Given the description of an element on the screen output the (x, y) to click on. 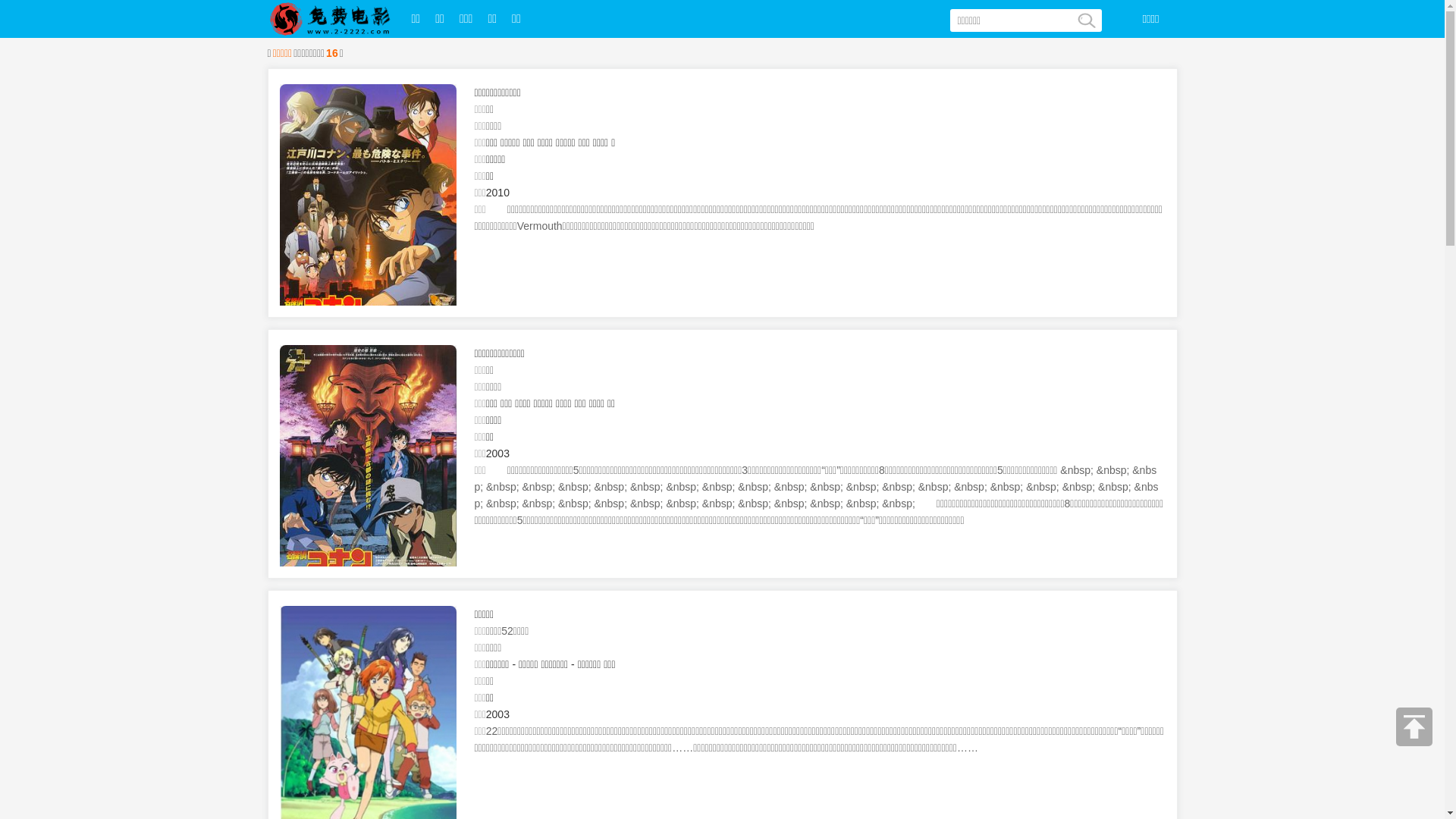
2003 Element type: text (497, 714)
2003 Element type: text (497, 453)
- Element type: text (572, 664)
2010 Element type: text (497, 192)
- Element type: text (513, 664)
